Given the description of an element on the screen output the (x, y) to click on. 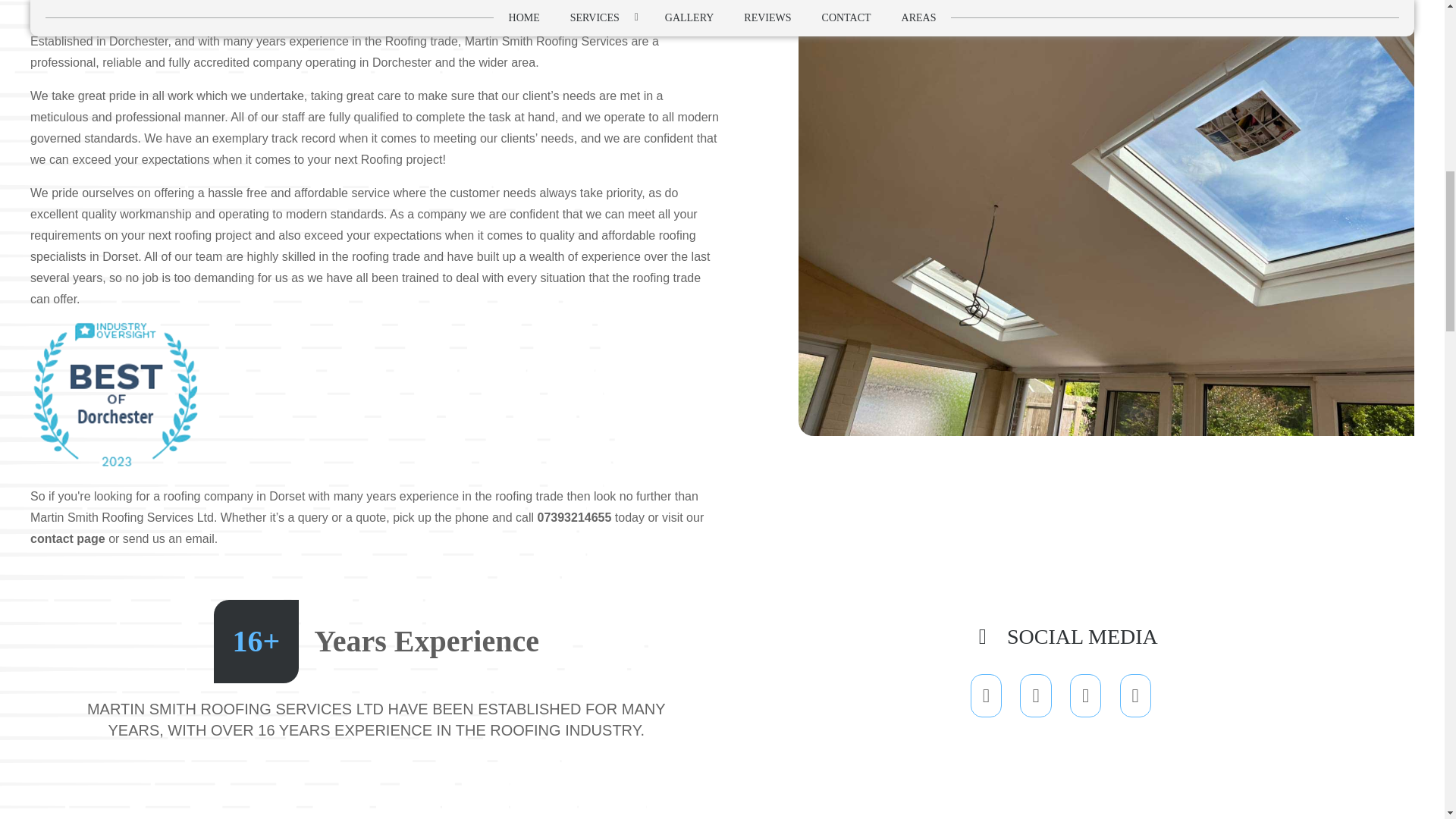
07393214655 (574, 517)
contact page (67, 538)
